Given the description of an element on the screen output the (x, y) to click on. 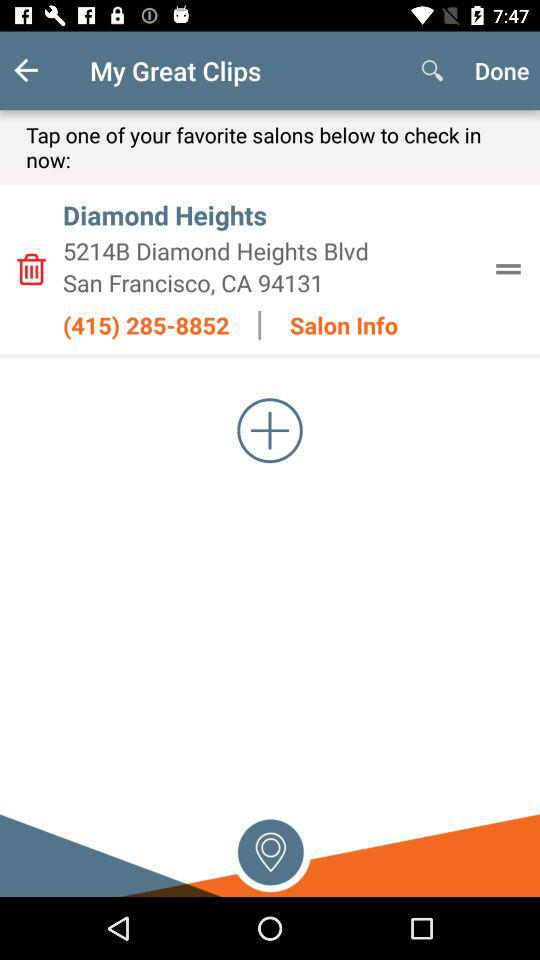
turn off the salon info item (343, 325)
